Given the description of an element on the screen output the (x, y) to click on. 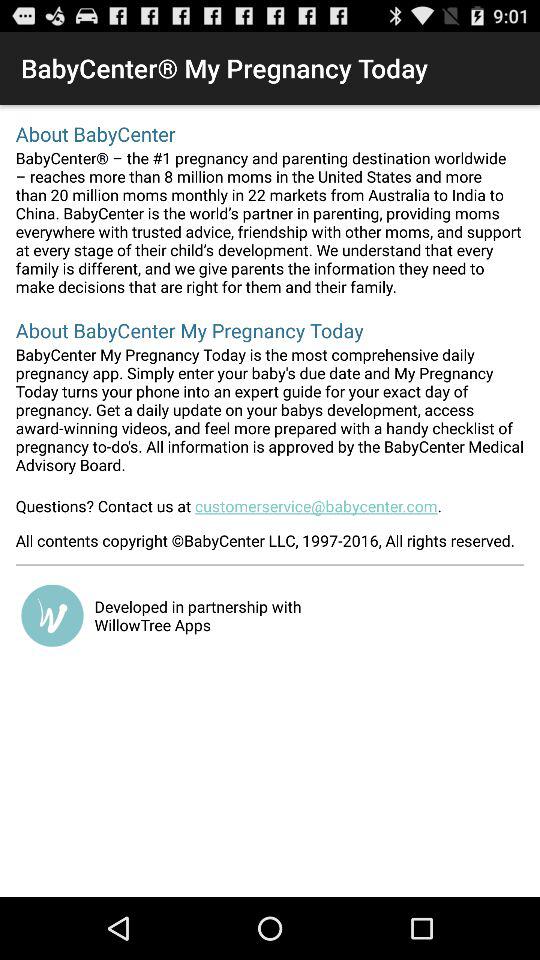
scroll to questions contact us app (269, 512)
